Given the description of an element on the screen output the (x, y) to click on. 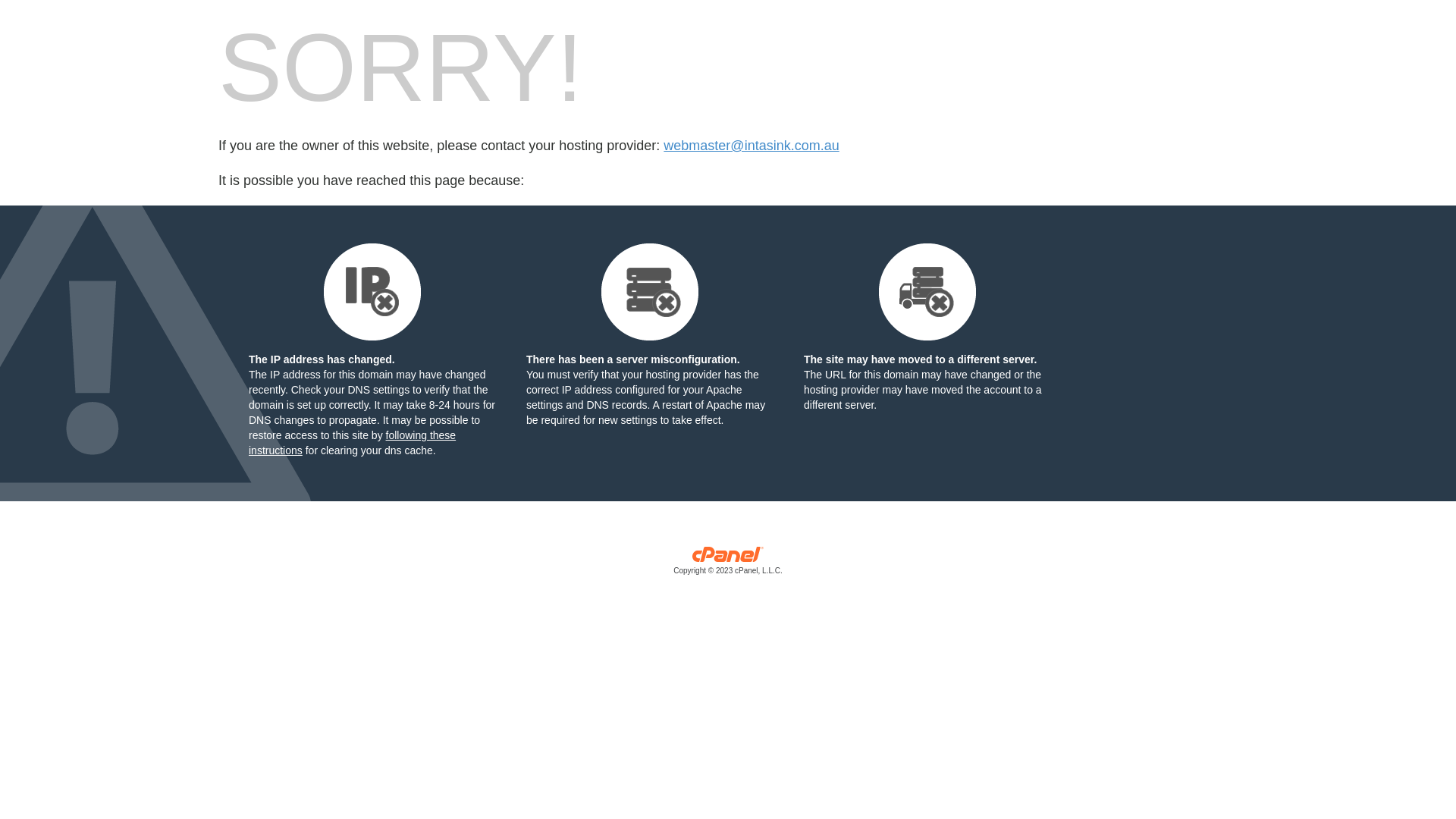
webmaster@intasink.com.au Element type: text (750, 145)
following these instructions Element type: text (351, 442)
